Given the description of an element on the screen output the (x, y) to click on. 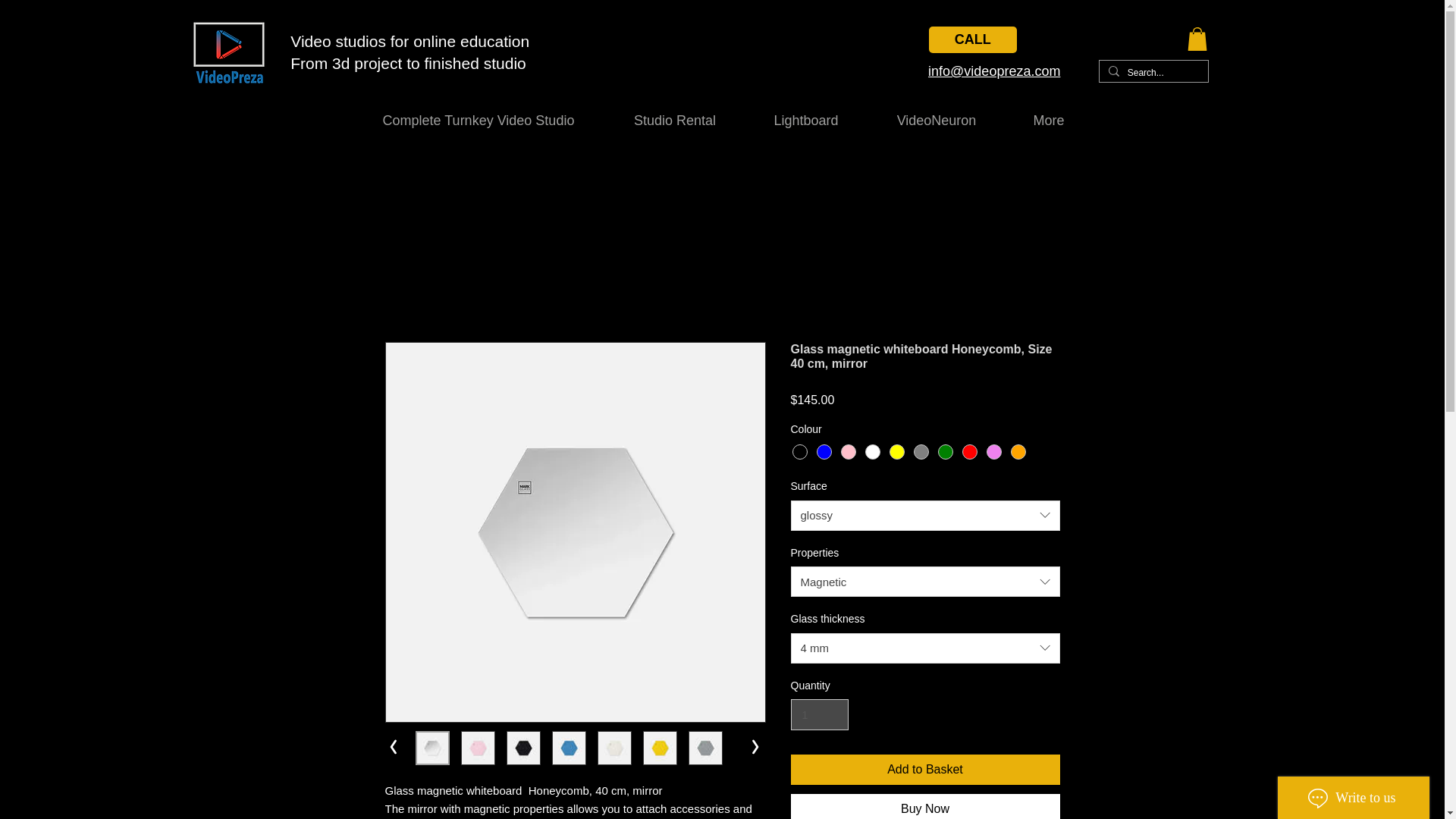
glossy (924, 515)
Magnetic (924, 581)
Studio Rental (674, 120)
Buy Now (924, 806)
CALL (972, 39)
Add to Basket (924, 769)
Complete Turnkey Video Studio (478, 120)
VideoNeuron (935, 120)
1 (818, 714)
Lightboard (805, 120)
